Given the description of an element on the screen output the (x, y) to click on. 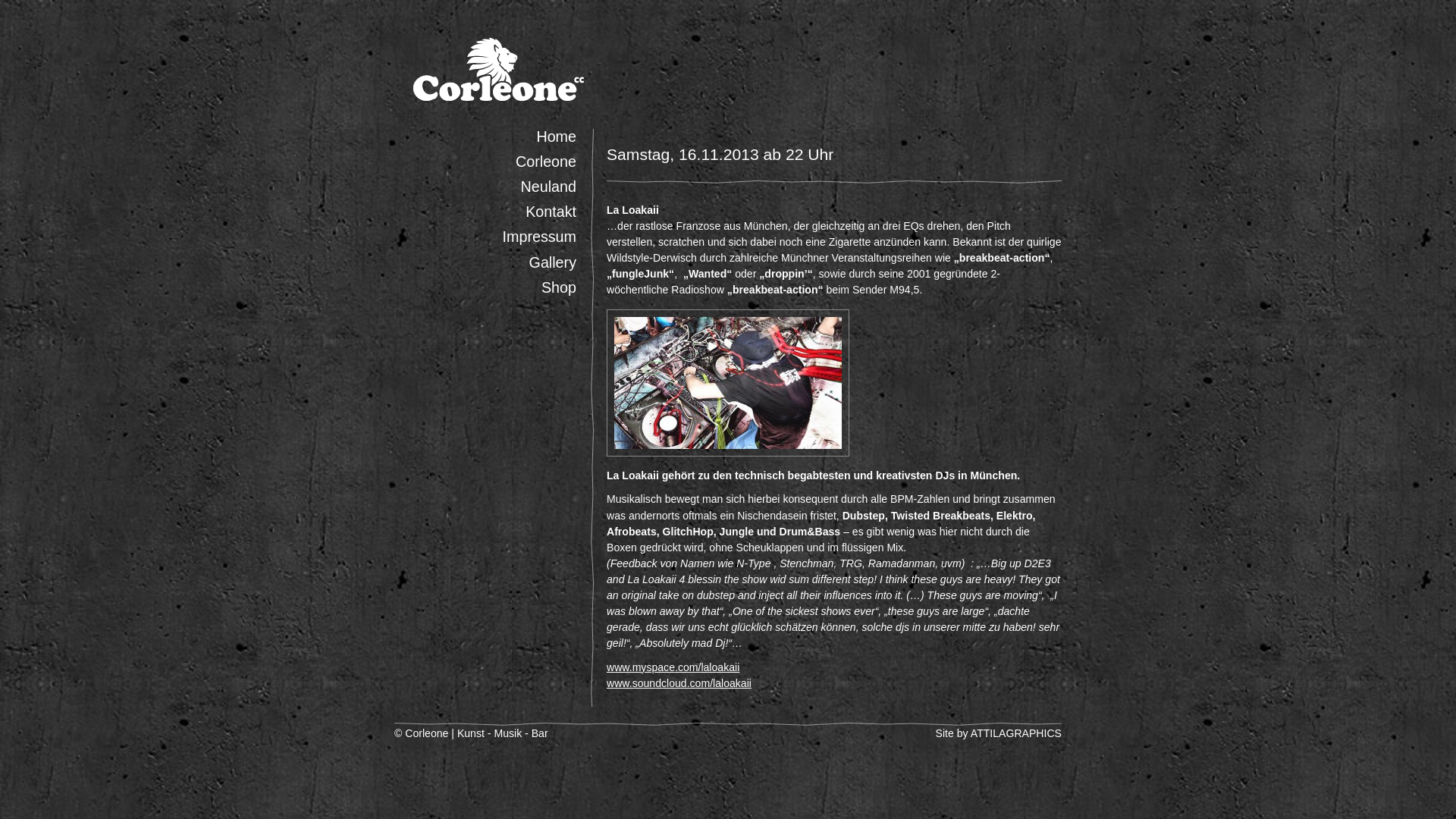
LL-Photo Element type: hover (727, 382)
Home Element type: text (556, 136)
Gallery Element type: text (552, 262)
Neuland Element type: text (548, 186)
ATTILAGRAPHICS Element type: text (1015, 733)
Shop Element type: text (558, 287)
www.soundcloud.com/laloakaii Element type: text (678, 683)
Corleone Element type: text (545, 161)
Impressum Element type: text (539, 236)
Kontakt Element type: text (550, 211)
www.myspace.com/laloakaii Element type: text (672, 667)
